Given the description of an element on the screen output the (x, y) to click on. 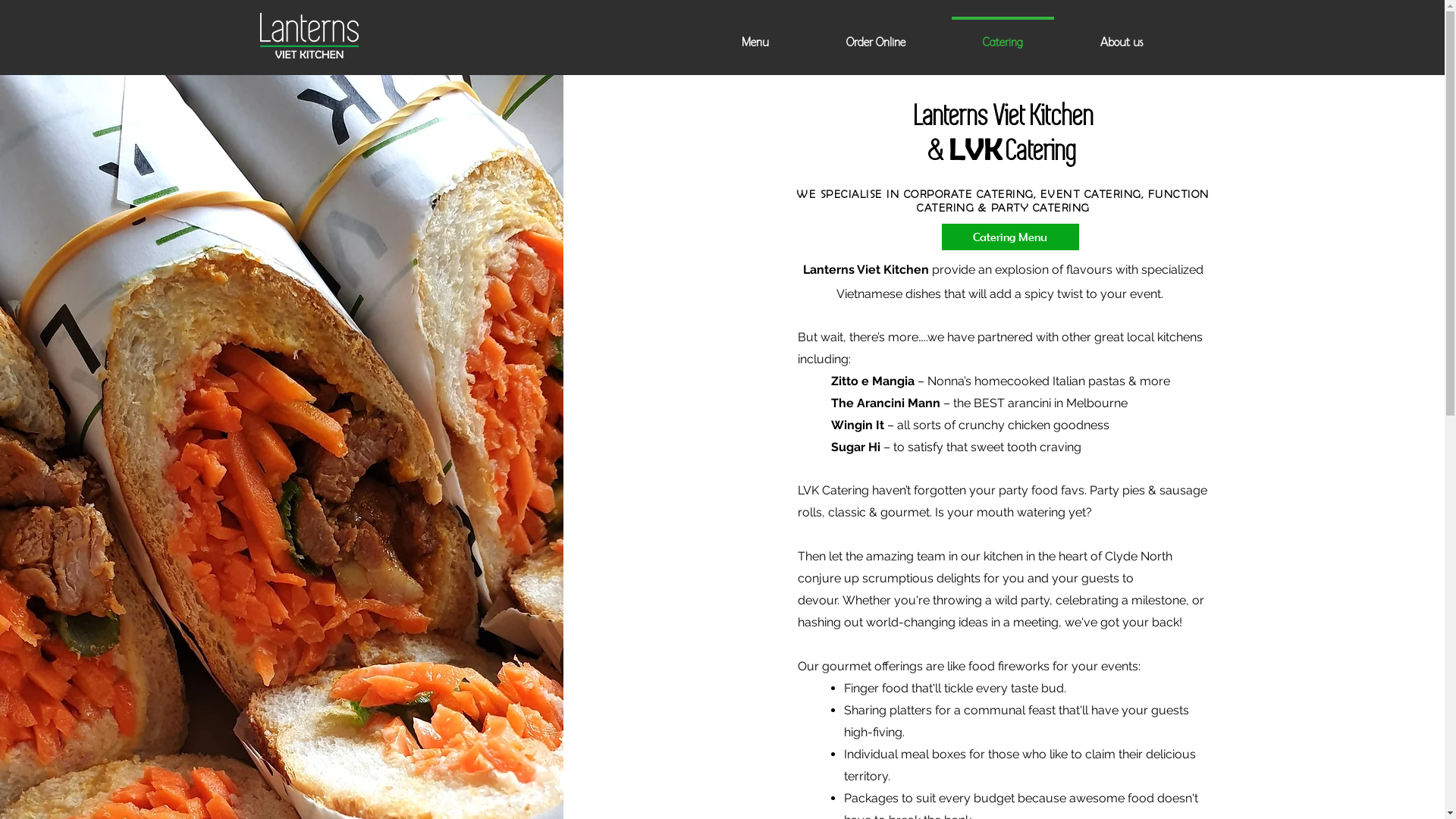
About us Element type: text (1121, 35)
Catering Menu Element type: text (1010, 236)
Order Online Element type: text (874, 35)
Catering Element type: text (1001, 35)
